Given the description of an element on the screen output the (x, y) to click on. 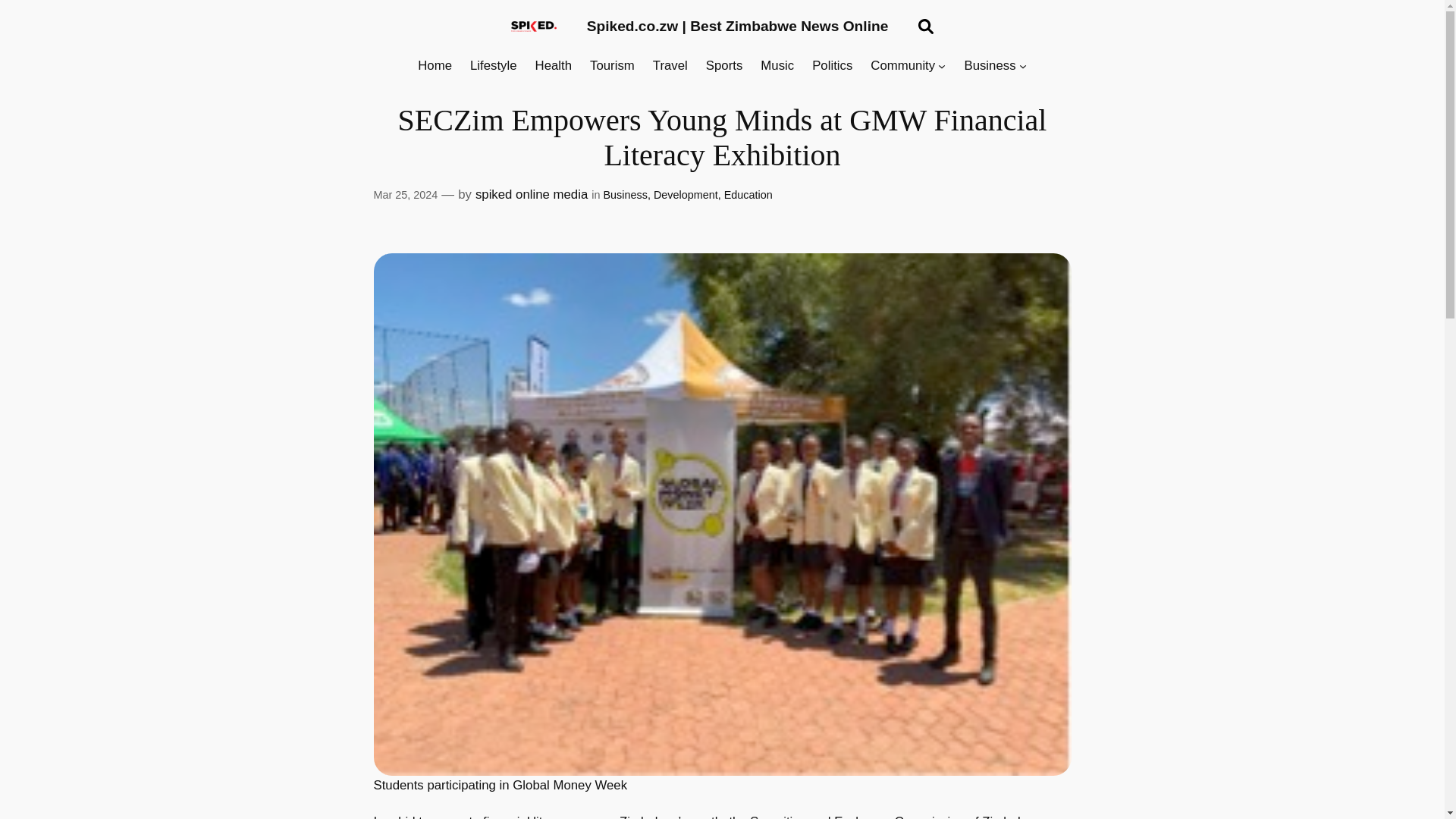
Business (988, 66)
Travel (669, 66)
Business (624, 194)
Music (776, 66)
Tourism (611, 66)
Health (553, 66)
Education (748, 194)
Lifestyle (493, 66)
Politics (831, 66)
Development (685, 194)
